Given the description of an element on the screen output the (x, y) to click on. 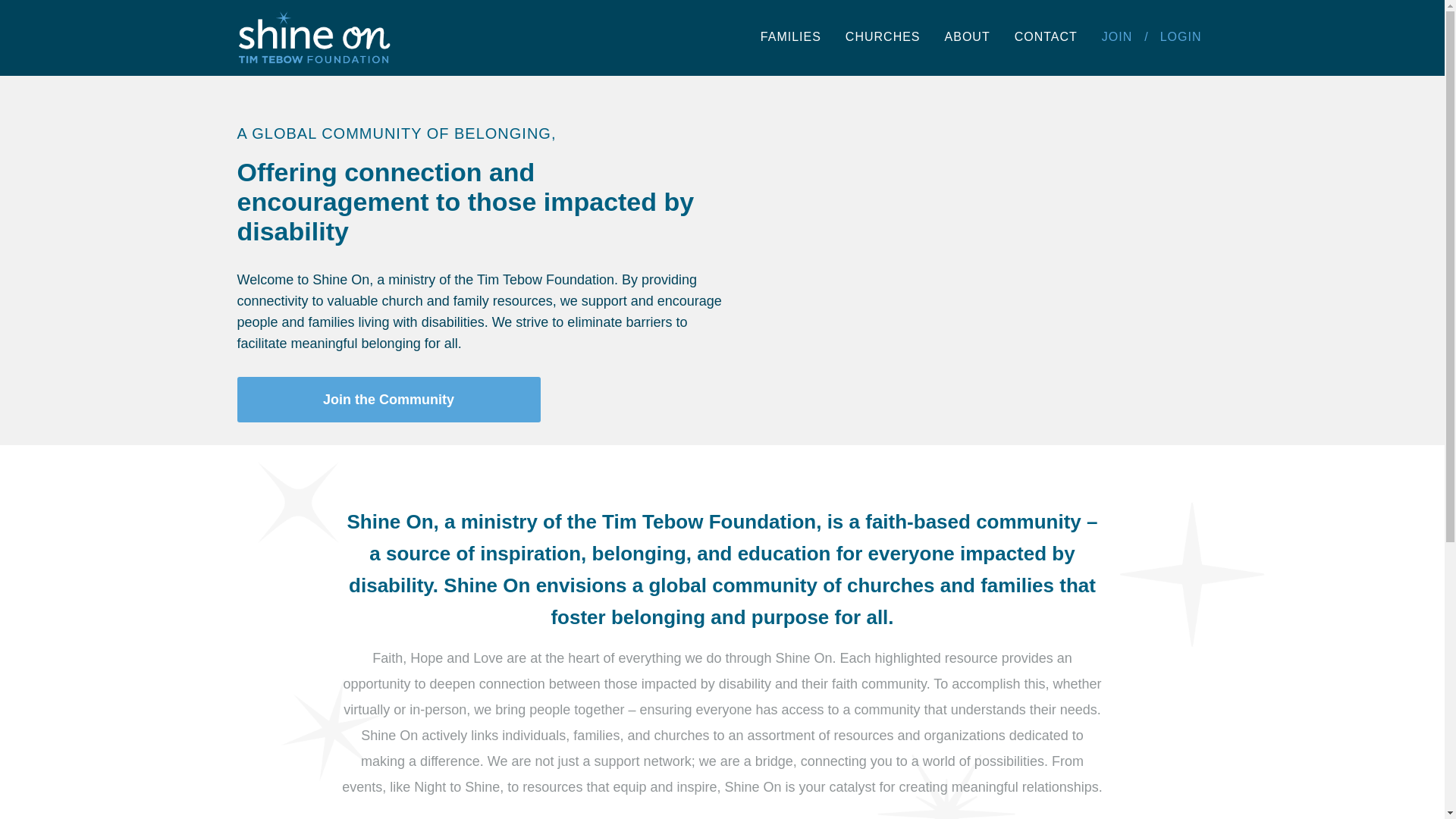
CHURCHES (883, 36)
ABOUT (967, 36)
FAMILIES (790, 36)
LOGIN (1181, 36)
JOIN (1117, 36)
CONTACT (1046, 36)
Join the Community (387, 399)
